Given the description of an element on the screen output the (x, y) to click on. 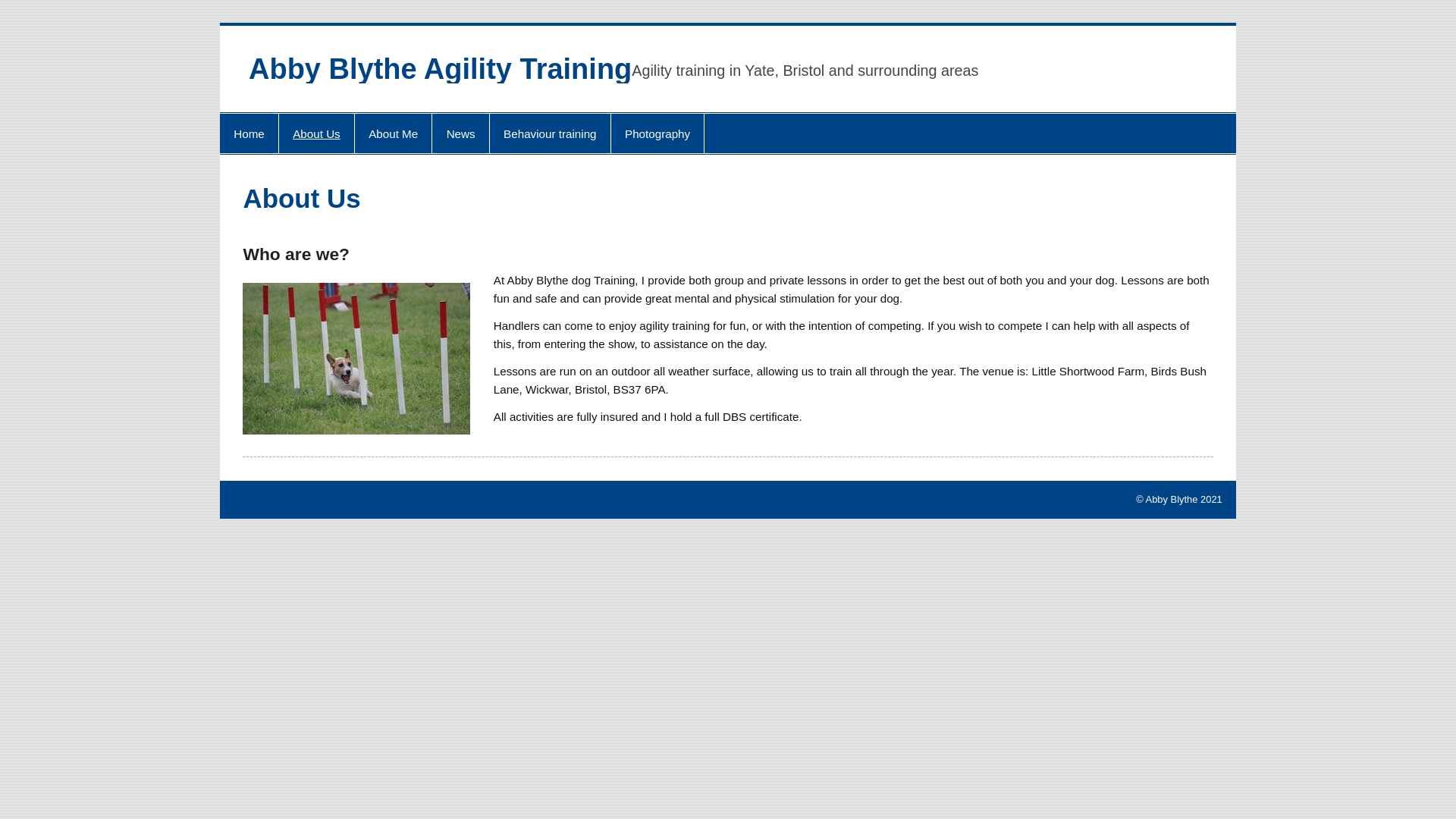
About Me (392, 133)
About Us (316, 133)
Behaviour training (549, 133)
News (459, 133)
Home (248, 133)
Abby Blythe Agility Training (439, 69)
Photography (657, 133)
